Given the description of an element on the screen output the (x, y) to click on. 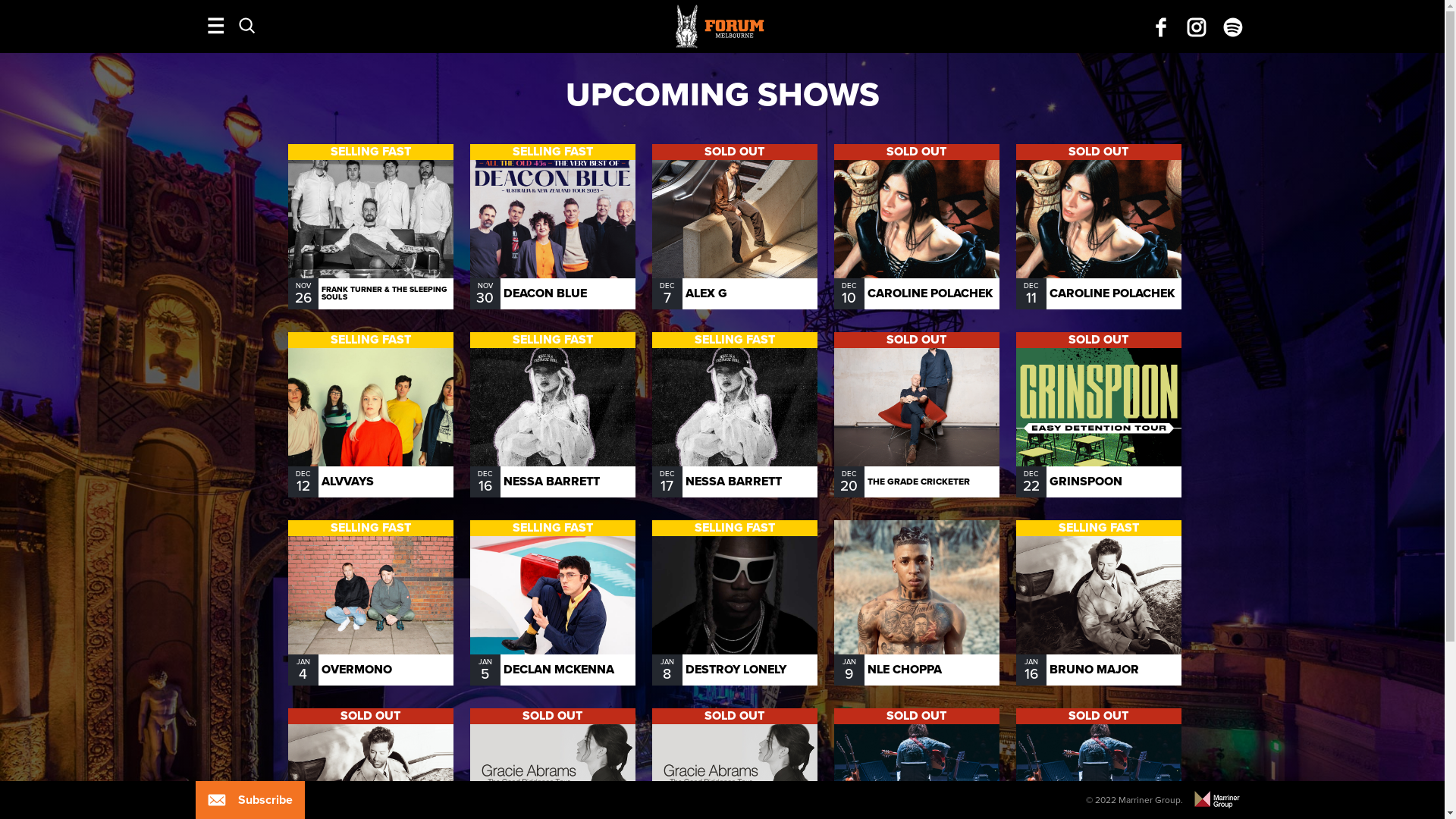
JAN
9 NLE CHOPPA Element type: text (916, 602)
Like Forum Melbourne on Facebook Element type: hover (1160, 27)
SOLD OUT
DEC
10 CAROLINE POLACHEK Element type: text (916, 226)
Subscribe Element type: hover (216, 799)
SELLING FAST
JAN
16 BRUNO MAJOR Element type: text (1098, 602)
Follow Forum Melbourne on Instagram Element type: hover (1196, 27)
Forum Melbourne Element type: hover (1232, 27)
SELLING FAST
NOV
30 DEACON BLUE Element type: text (552, 226)
SOLD OUT
DEC
20 THE GRADE CRICKETER Element type: text (916, 414)
SOLD OUT
DEC
22 GRINSPOON Element type: text (1098, 414)
Forum Melbourne Element type: hover (1160, 27)
SELLING FAST
DEC
17 NESSA BARRETT Element type: text (734, 414)
SELLING FAST
JAN
8 DESTROY LONELY Element type: text (734, 602)
SELLING FAST
DEC
12 ALVVAYS Element type: text (370, 414)
SELLING FAST
DEC
16 NESSA BARRETT Element type: text (552, 414)
Follow Forum Melbourne on Spotify Element type: hover (1232, 27)
SOLD OUT
DEC
7 ALEX G Element type: text (734, 226)
Forum Melbourne Element type: hover (1196, 27)
SOLD OUT
DEC
11 CAROLINE POLACHEK Element type: text (1098, 226)
SELLING FAST
JAN
5 DECLAN MCKENNA Element type: text (552, 602)
SELLING FAST
JAN
4 OVERMONO Element type: text (370, 602)
SELLING FAST
NOV
26 FRANK TURNER & THE SLEEPING SOULS Element type: text (370, 226)
